Given the description of an element on the screen output the (x, y) to click on. 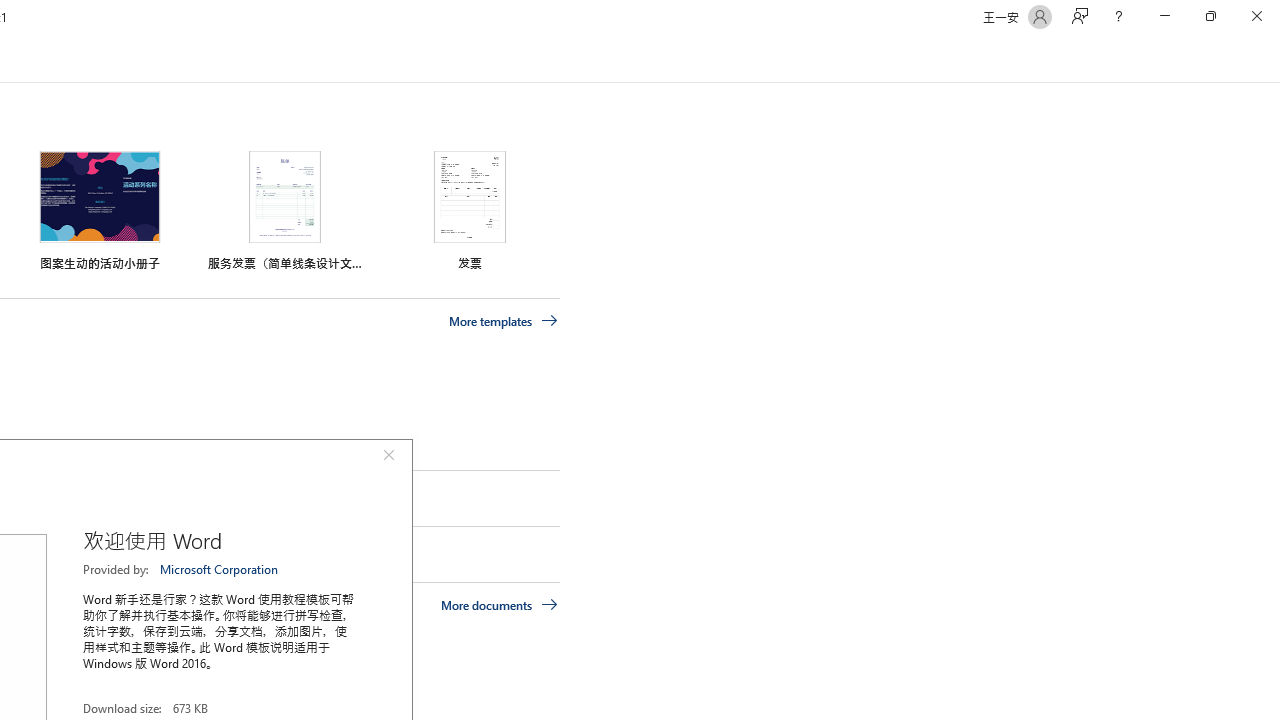
More documents (499, 604)
Pin this item to the list (20, 553)
Microsoft Corporation (220, 569)
More templates (503, 321)
